Given the description of an element on the screen output the (x, y) to click on. 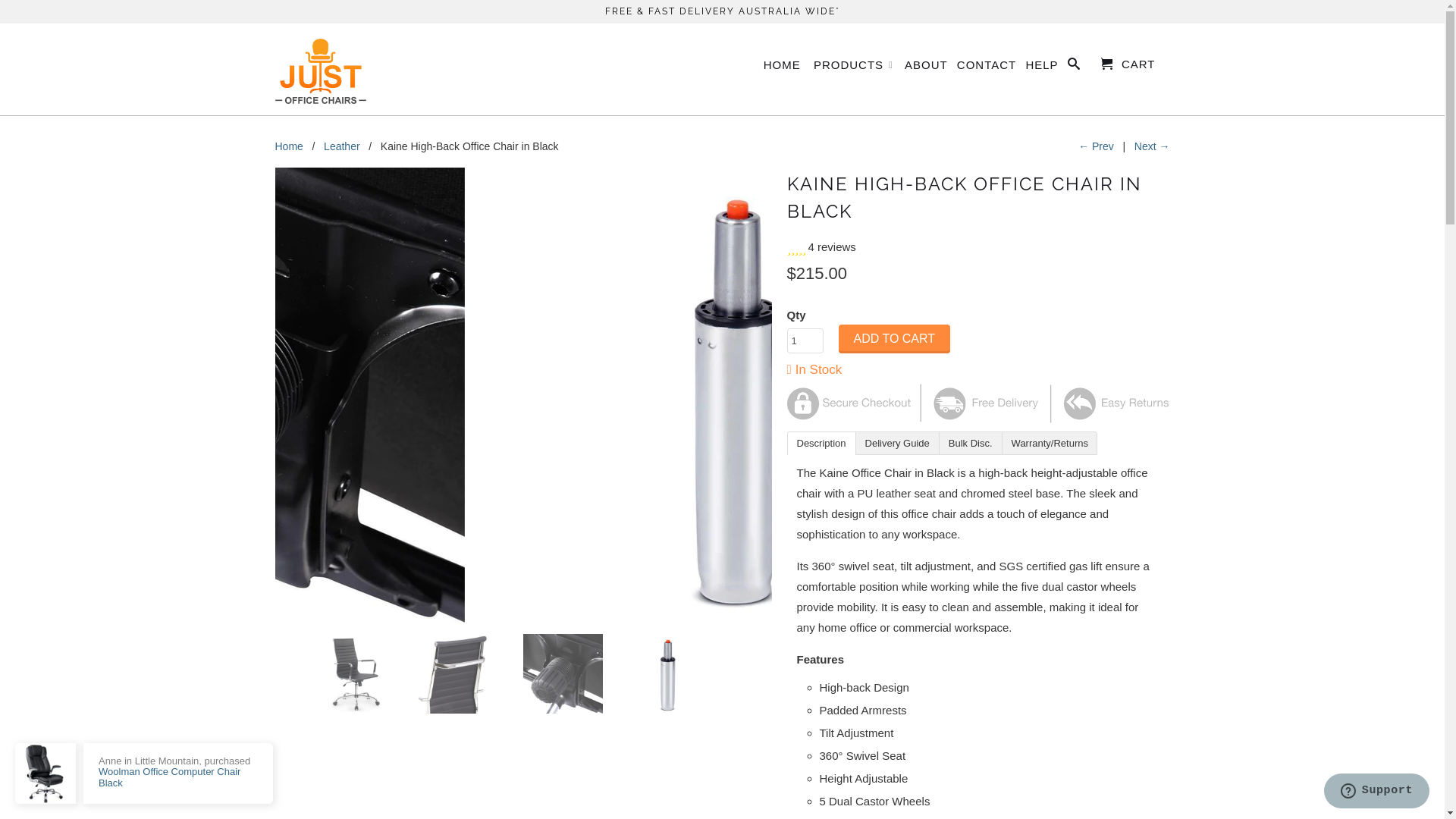
ADD TO CART Element type: text (894, 338)
Search Element type: hover (1073, 66)
Woolman Office Computer Chair Black Element type: text (169, 776)
Opens a widget where you can find more information Element type: hover (1376, 792)
Just Office Chairs Element type: hover (319, 68)
Leather Element type: text (341, 146)
Kaine High-Back Office Chair in Black Element type: hover (522, 394)
Warranty/Returns Element type: text (1049, 443)
HOME Element type: text (781, 68)
Home Element type: text (288, 146)
Delivery Guide Element type: text (897, 443)
ABOUT Element type: text (925, 68)
CART Element type: text (1128, 63)
CONTACT Element type: text (986, 68)
HELP Element type: text (1041, 68)
Description Element type: text (821, 443)
Bulk Disc. Element type: text (969, 443)
